Given the description of an element on the screen output the (x, y) to click on. 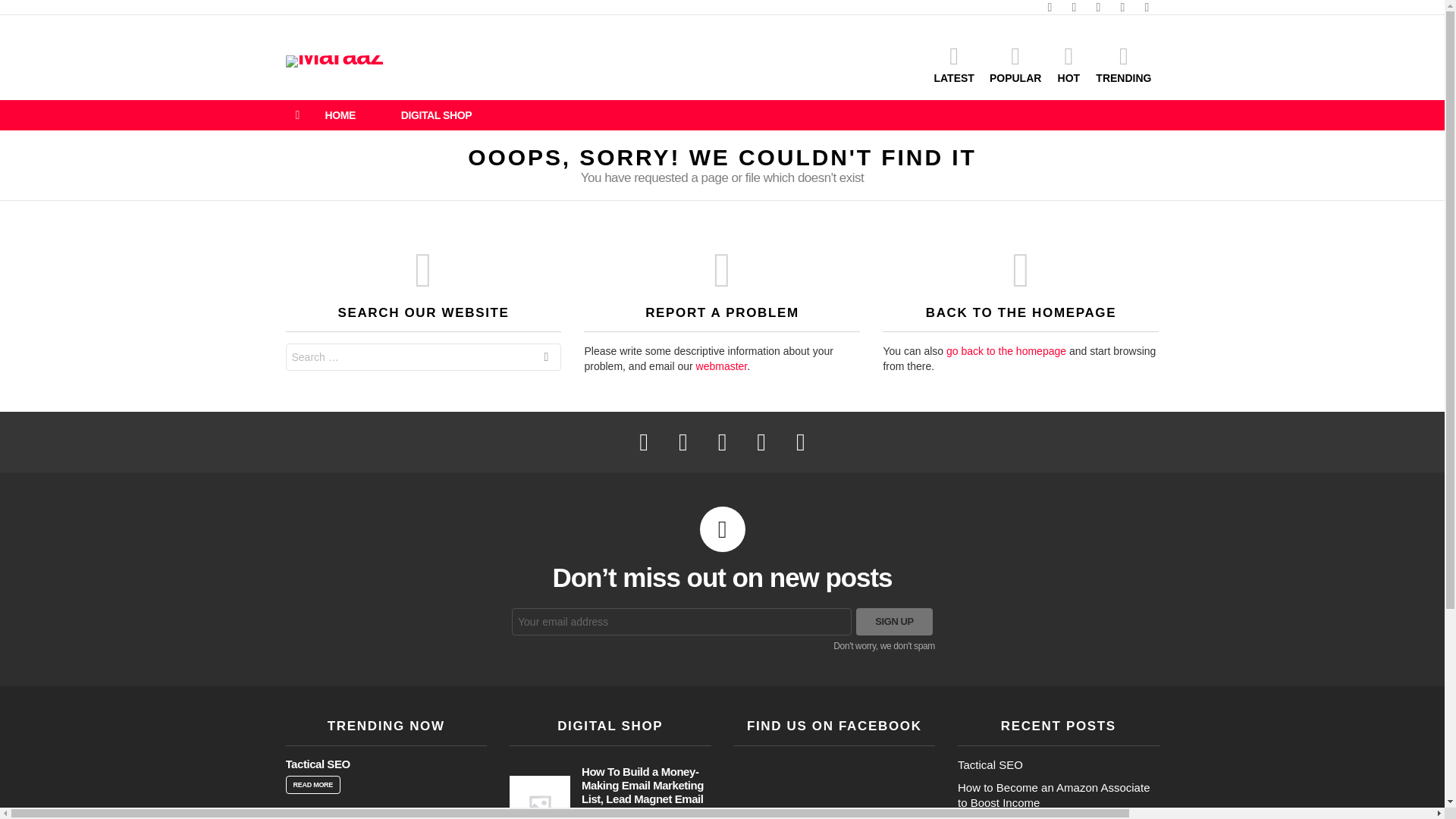
Menu (296, 115)
HOT (1067, 64)
LATEST (953, 64)
Sign up (894, 621)
HOME (339, 115)
Search for: (422, 357)
TRENDING (1122, 64)
DIGITAL SHOP (436, 115)
POPULAR (1014, 64)
